Given the description of an element on the screen output the (x, y) to click on. 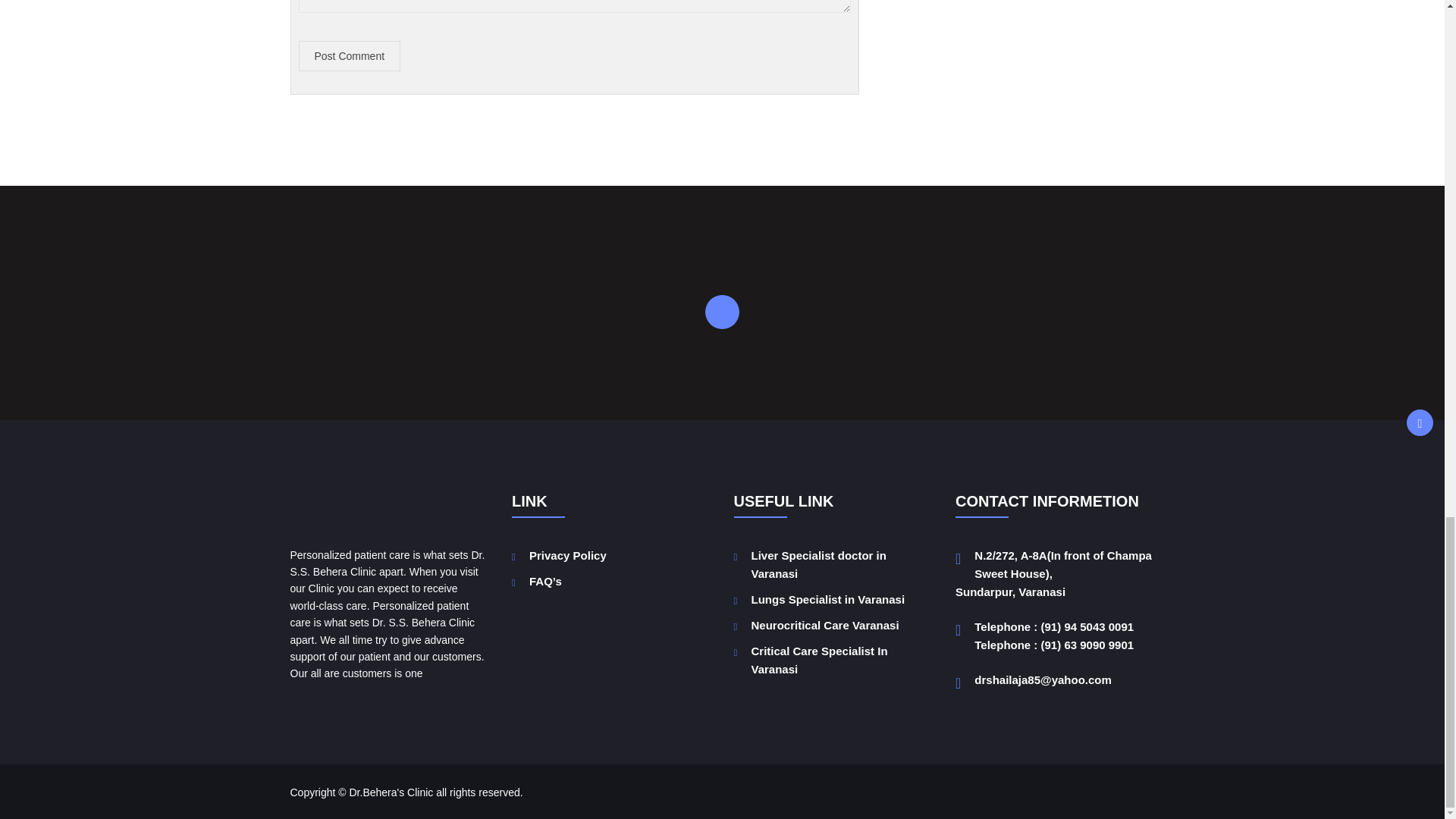
Privacy Policy (568, 554)
Facebook (722, 312)
Lungs Specialist in Varanasi (827, 599)
Neurocritical Care Varanasi (824, 625)
Liver Specialist doctor in Varanasi (818, 563)
Post Comment (349, 55)
